Given the description of an element on the screen output the (x, y) to click on. 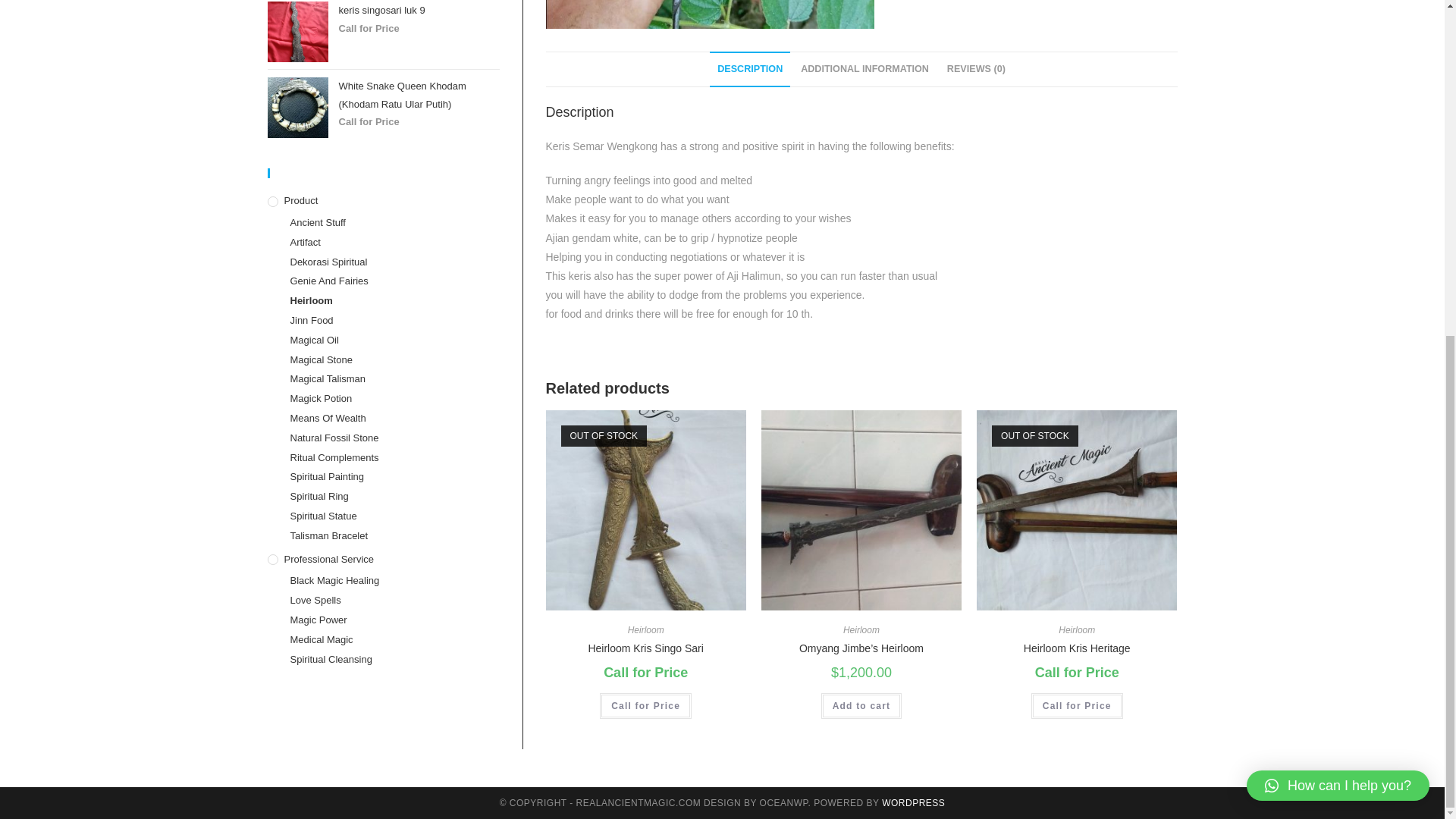
KRIS SEMAR WENGKONG (710, 14)
ADDITIONAL INFORMATION (864, 68)
Heirloom Kris Singo Sari (645, 648)
DESCRIPTION (750, 68)
Heirloom (645, 629)
WordPress (913, 802)
